Given the description of an element on the screen output the (x, y) to click on. 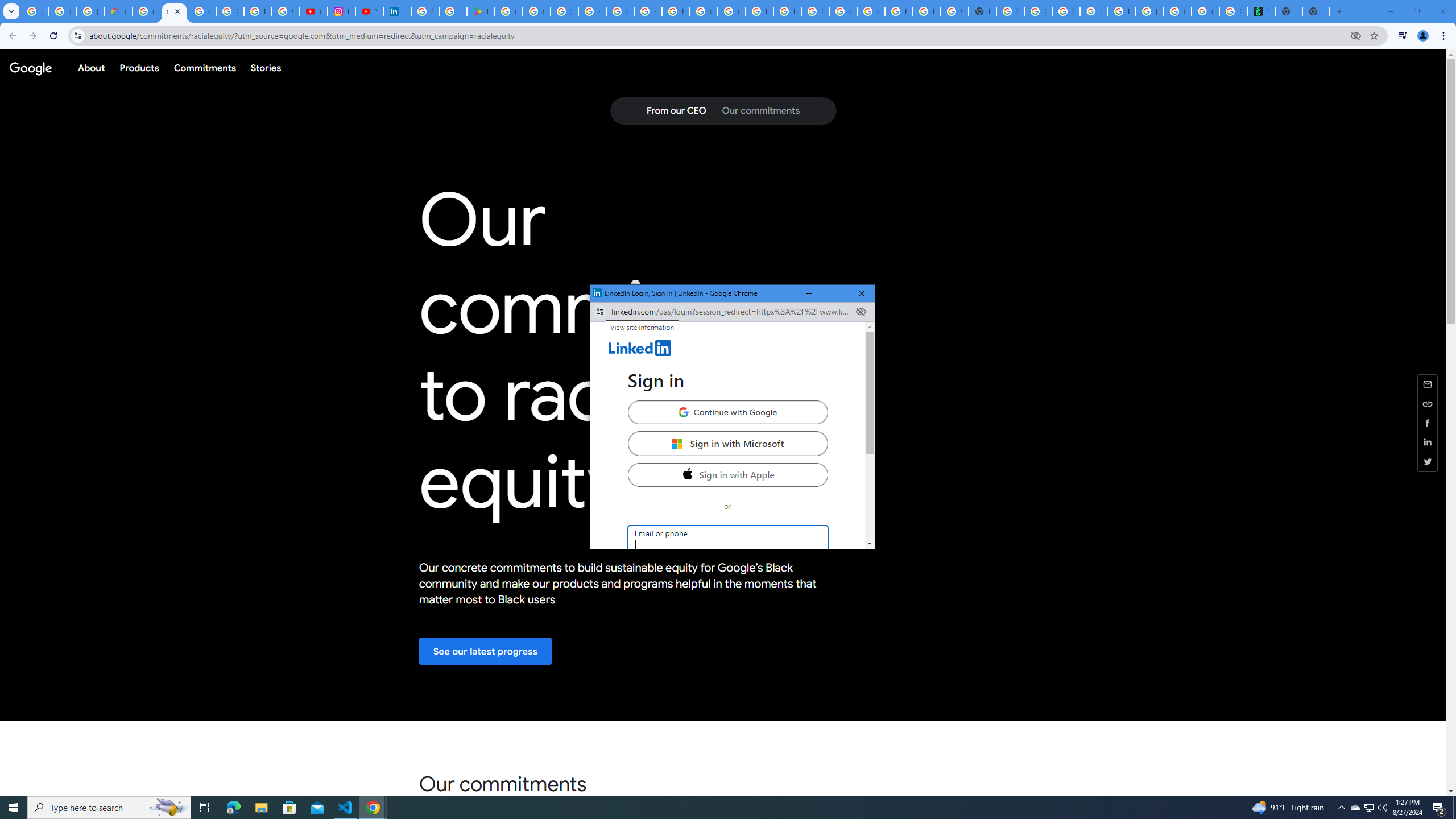
Running applications (717, 807)
AutomationID: linkedin-logo (639, 347)
Visual Studio Code - 1 running window (345, 807)
Q2790: 100% (1382, 807)
Sign in with Apple (727, 474)
